Given the description of an element on the screen output the (x, y) to click on. 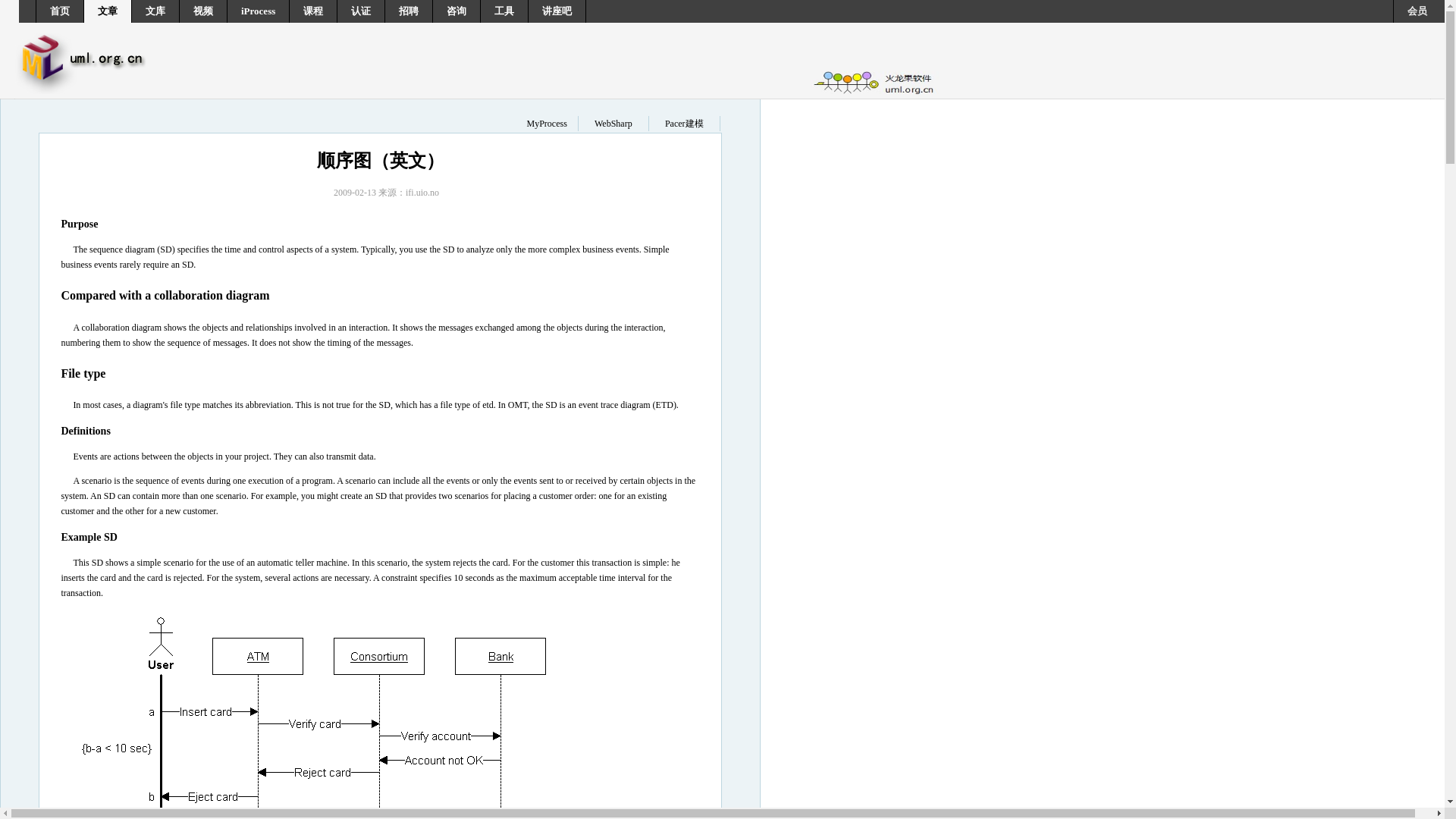
WebSharp (612, 122)
MyProcess (545, 122)
iProcess (257, 11)
